Given the description of an element on the screen output the (x, y) to click on. 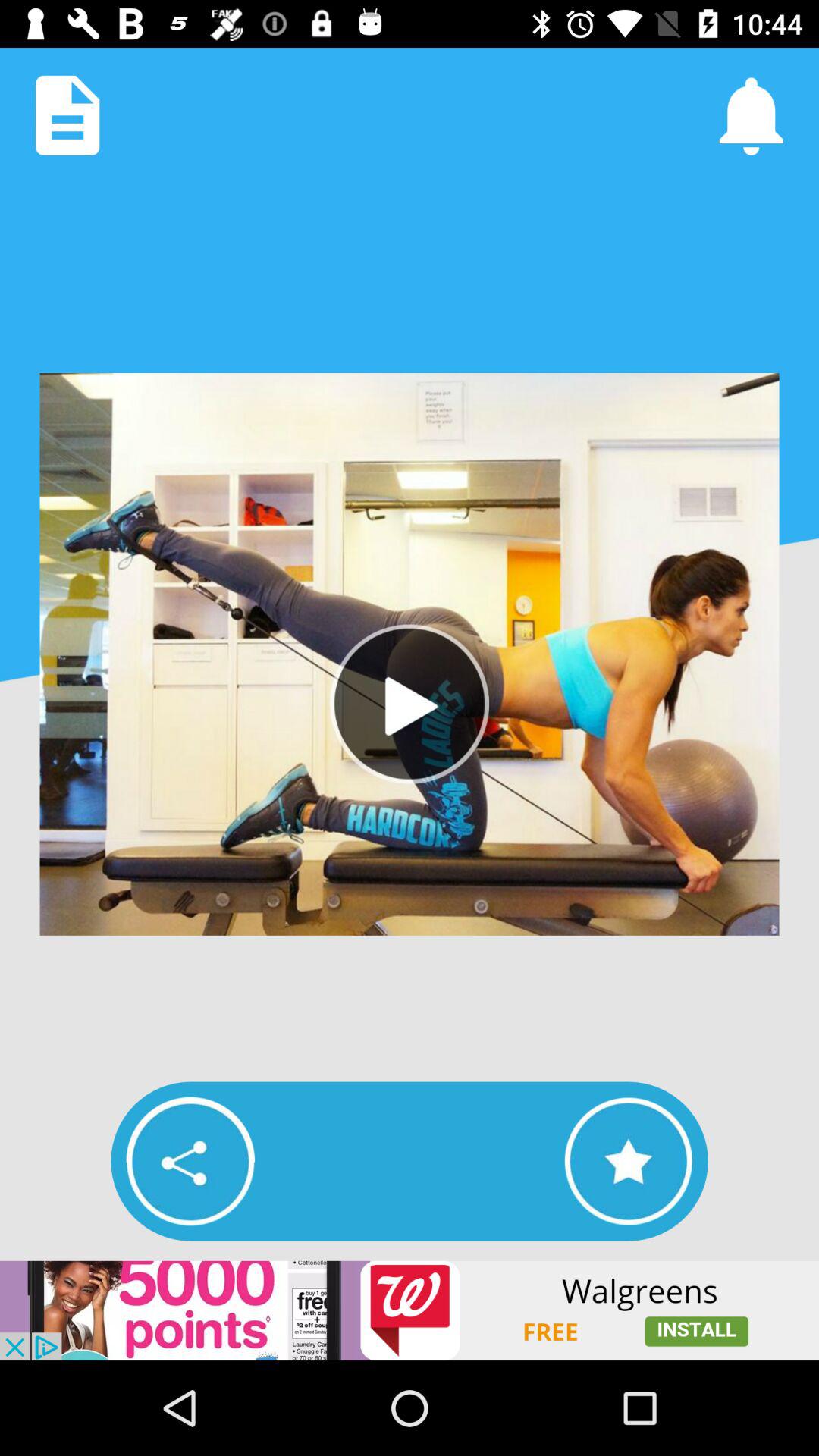
clickable advertisement (409, 1310)
